Given the description of an element on the screen output the (x, y) to click on. 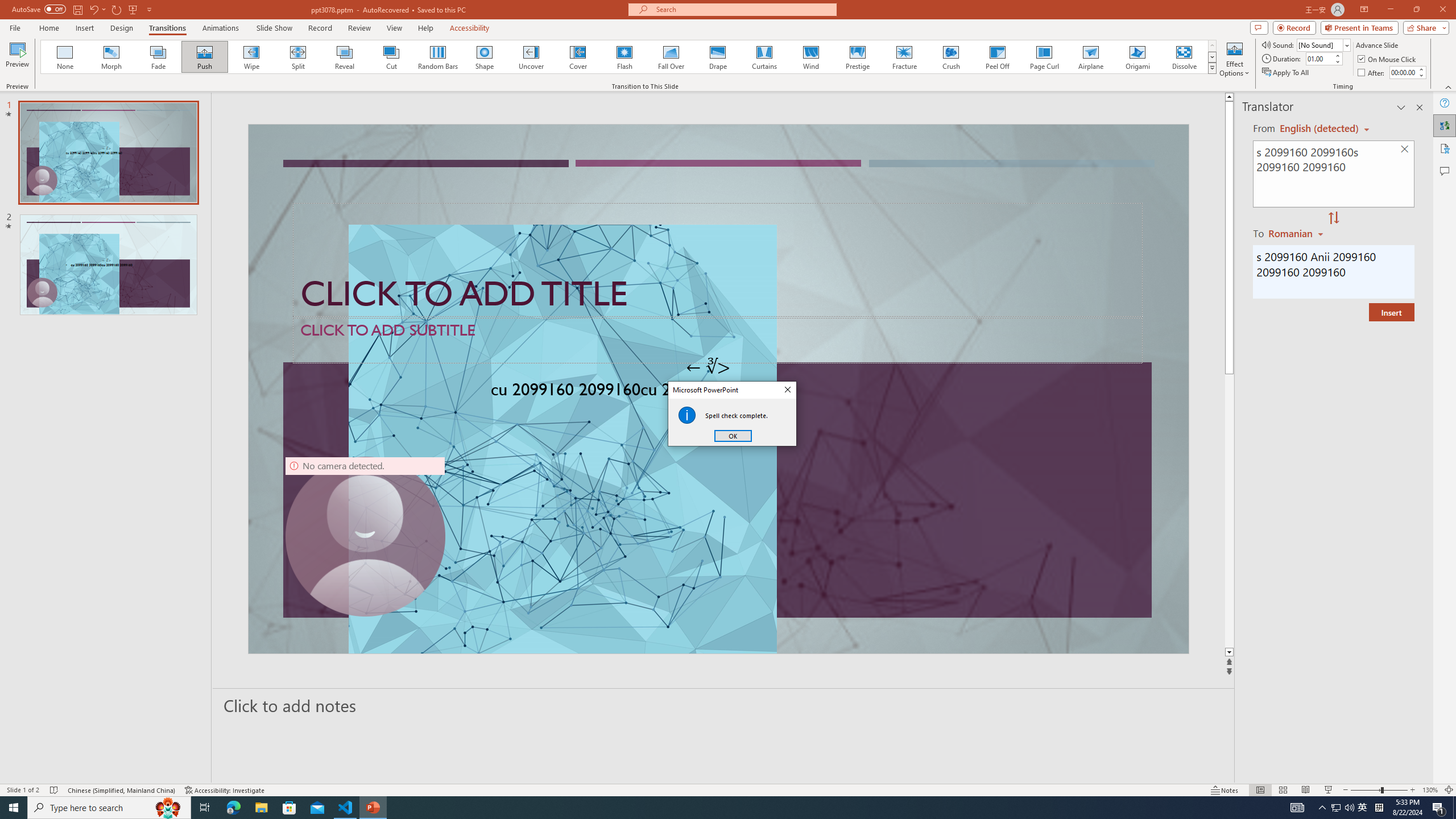
Random Bars (437, 56)
Duration (1319, 58)
Sound (1324, 44)
Flash (624, 56)
